Given the description of an element on the screen output the (x, y) to click on. 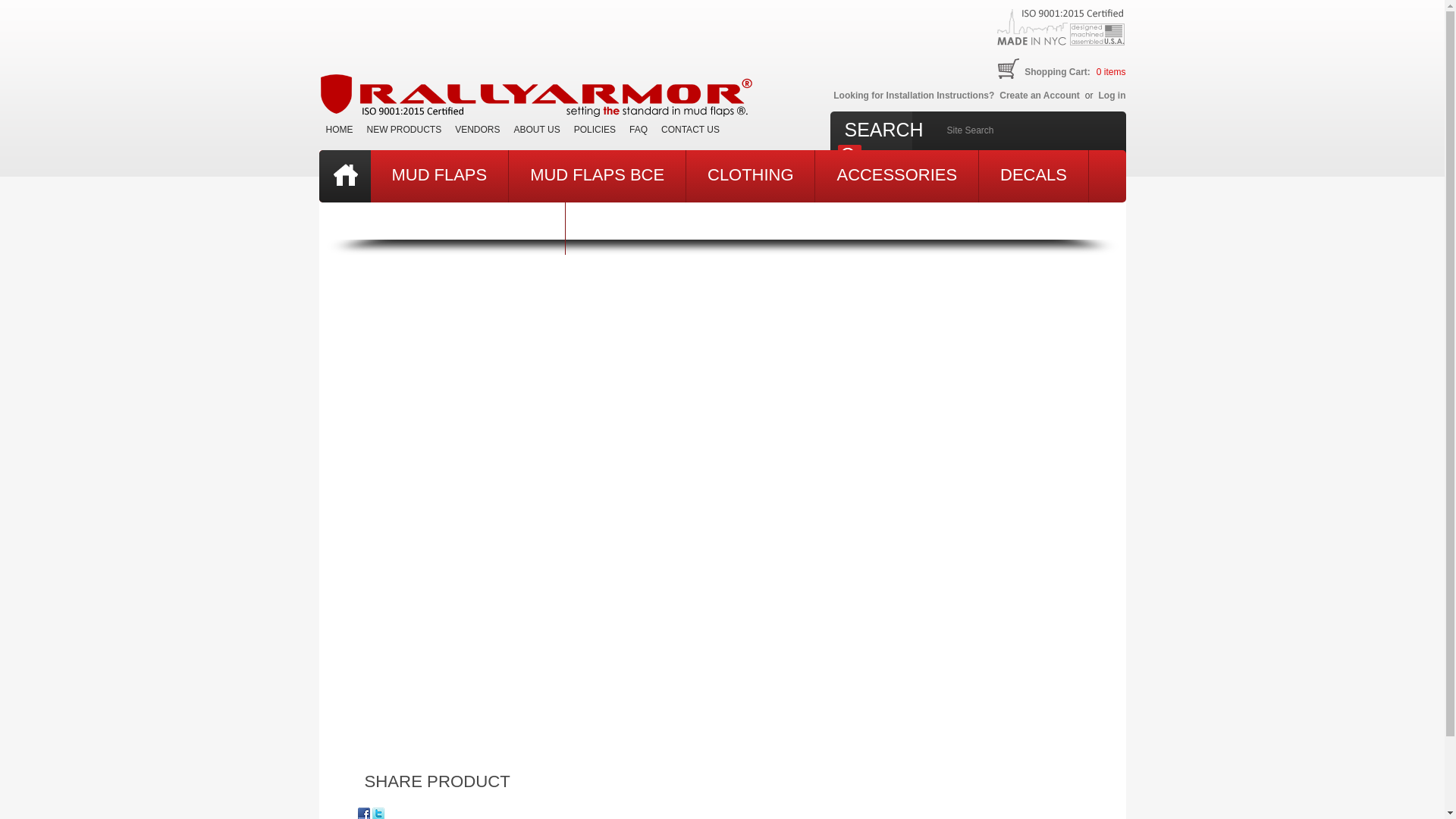
FAQ (638, 128)
HOME (338, 128)
CONTACT US (689, 128)
 Search  (848, 156)
Share on Twitter (378, 813)
NEW PRODUCTS (403, 128)
MUD FLAPS (438, 175)
Create an Account (1039, 92)
VENDORS (477, 128)
Looking for Installation Instructions? (911, 92)
